Given the description of an element on the screen output the (x, y) to click on. 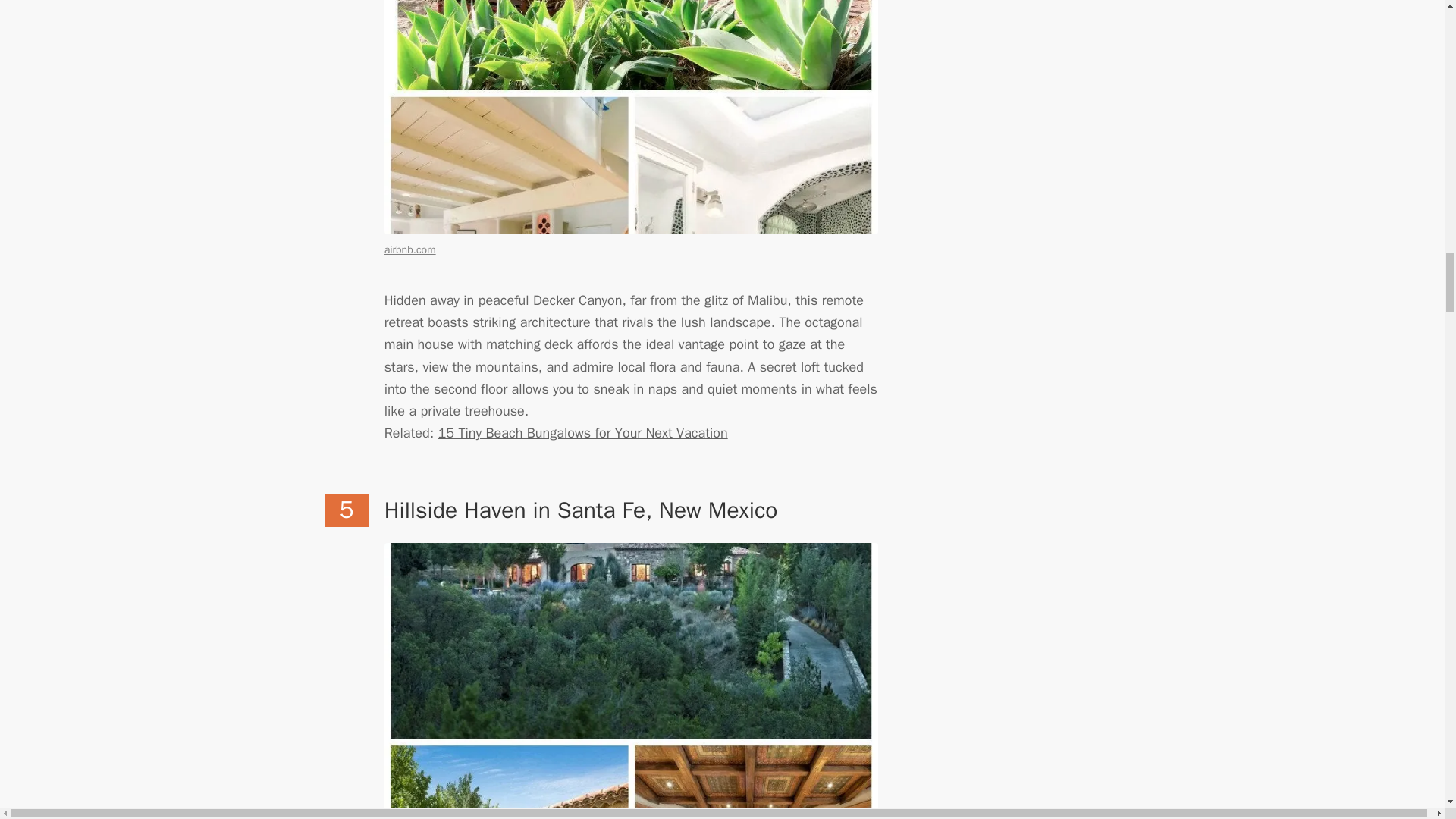
23 Design Ideas to Make Your Deck a Destination (558, 343)
